Given the description of an element on the screen output the (x, y) to click on. 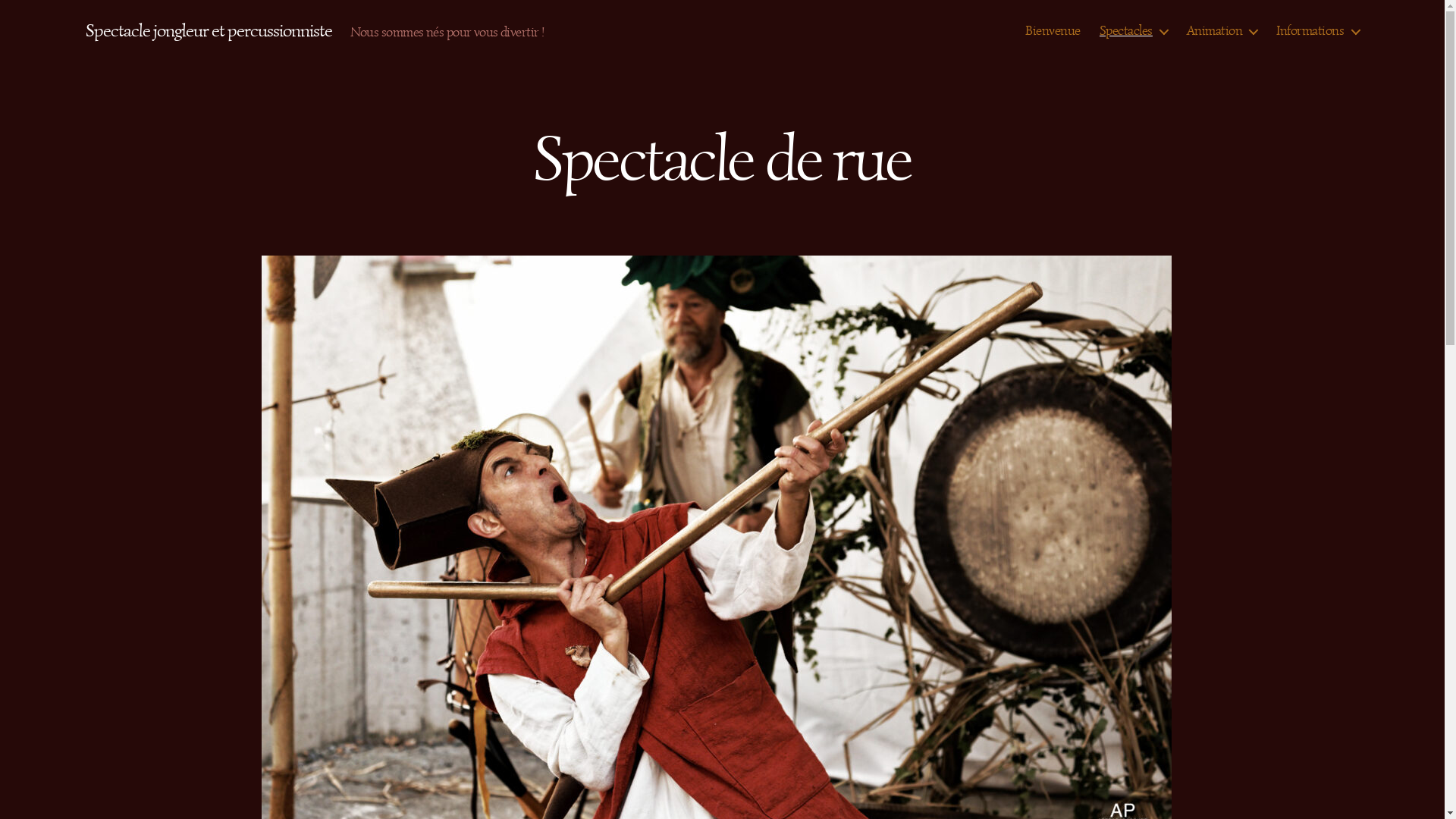
Informations Element type: text (1317, 30)
Spectacles Element type: text (1133, 30)
Bienvenue Element type: text (1052, 30)
Spectacle jongleur et percussionniste Element type: text (207, 30)
Animation Element type: text (1222, 30)
